Given the description of an element on the screen output the (x, y) to click on. 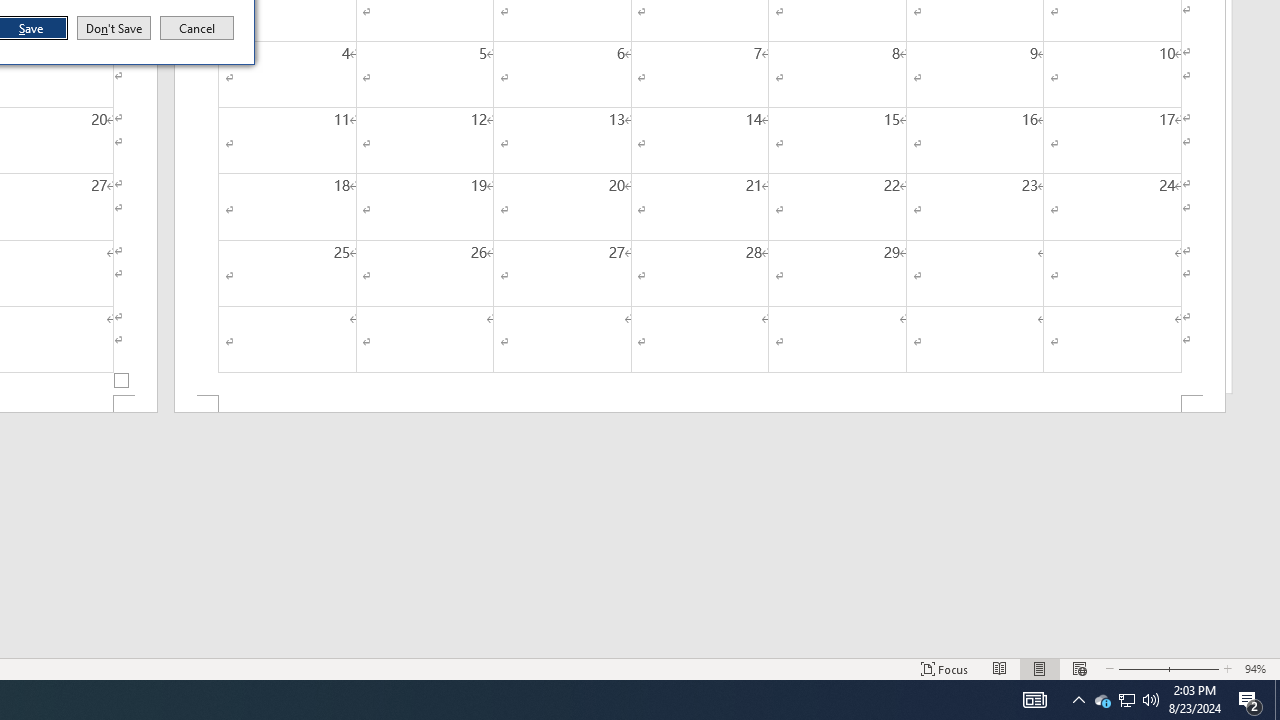
Notification Chevron (1078, 699)
Cancel (197, 27)
Don't Save (1102, 699)
